Given the description of an element on the screen output the (x, y) to click on. 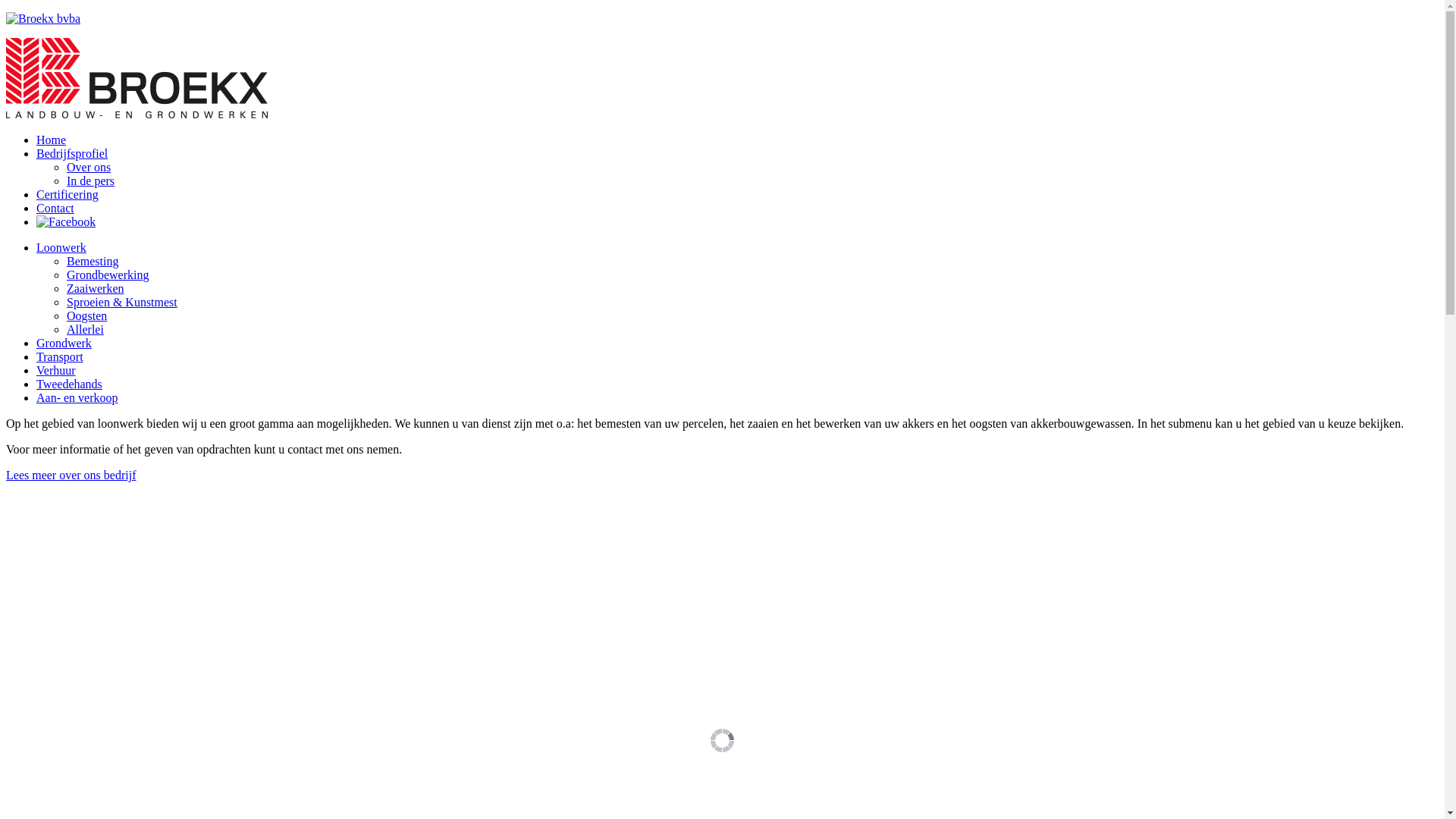
Zaaiwerken Element type: text (95, 288)
Aan- en verkoop Element type: text (77, 397)
Bedrijfsprofiel Element type: text (71, 153)
Bemesting Element type: text (92, 260)
Loonwerk Element type: text (61, 247)
Sproeien & Kunstmest Element type: text (121, 301)
Oogsten Element type: text (86, 315)
Lees meer over ons bedrijf Element type: text (70, 474)
Over ons Element type: text (88, 166)
Grondwerk Element type: text (63, 342)
Verhuur Element type: text (55, 370)
Allerlei Element type: text (84, 329)
Certificering Element type: text (67, 194)
In de pers Element type: text (90, 180)
Home Element type: text (50, 139)
Contact Element type: text (55, 207)
Grondbewerking Element type: text (107, 274)
Transport Element type: text (59, 356)
Tweedehands Element type: text (69, 383)
